Given the description of an element on the screen output the (x, y) to click on. 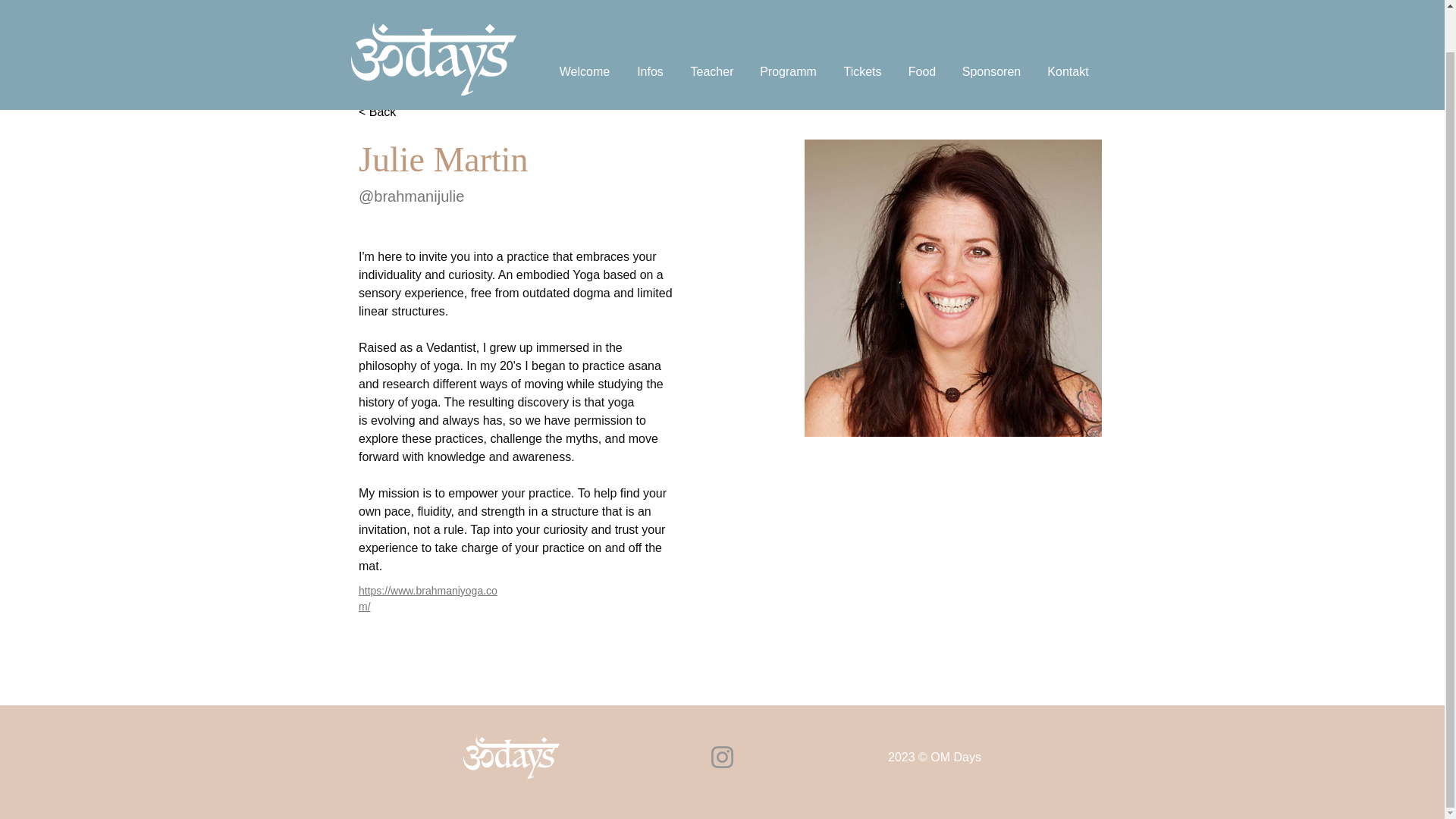
Programm (787, 27)
Welcome (584, 27)
Infos (650, 27)
Teacher (712, 27)
Tickets (862, 27)
Bildschirmfoto 2024-02-25 um 19.23.31.png (953, 287)
Sponsoren (991, 27)
Food (922, 27)
Kontakt (1067, 27)
